Given the description of an element on the screen output the (x, y) to click on. 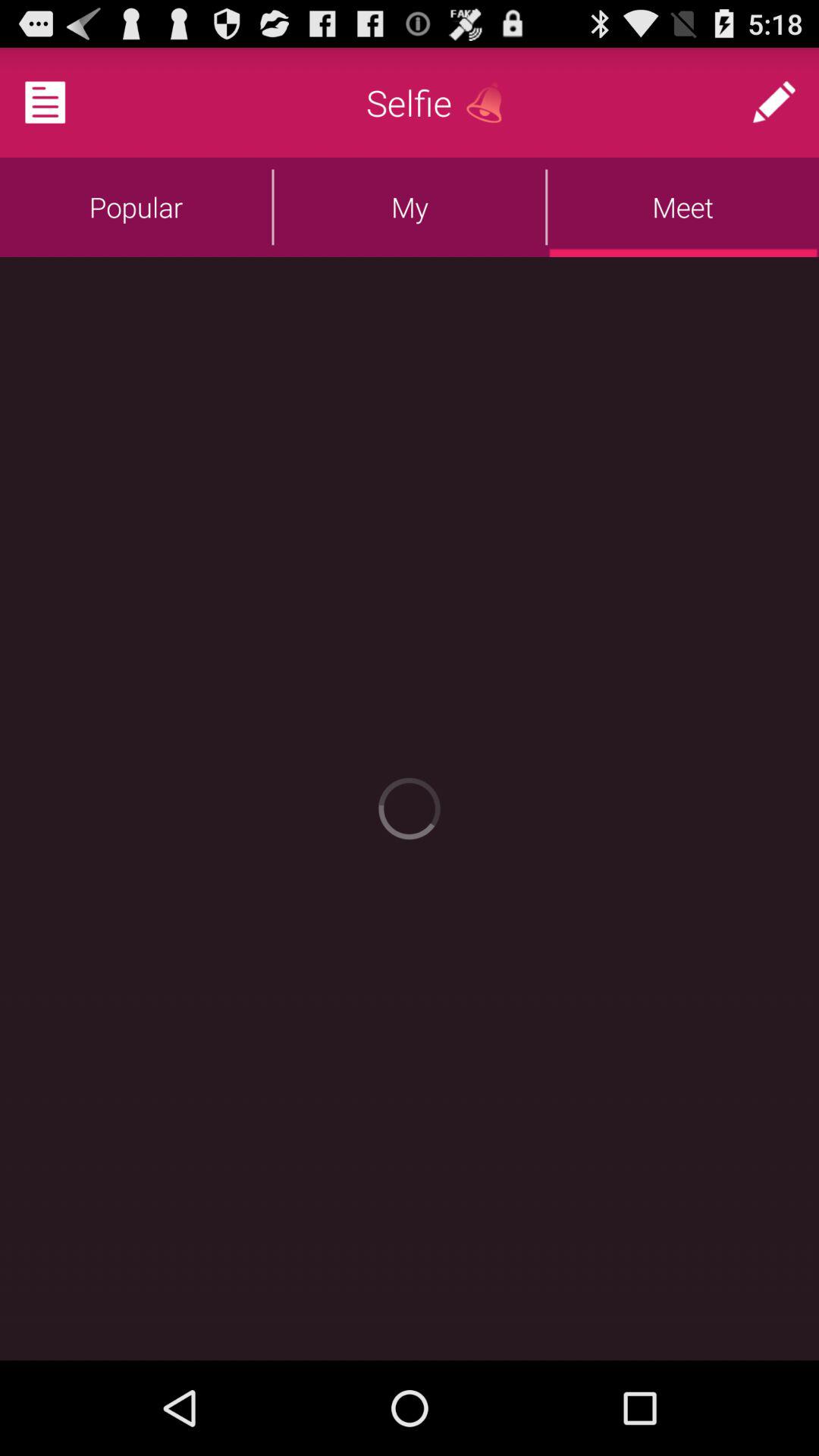
launch app above the my icon (409, 102)
